Given the description of an element on the screen output the (x, y) to click on. 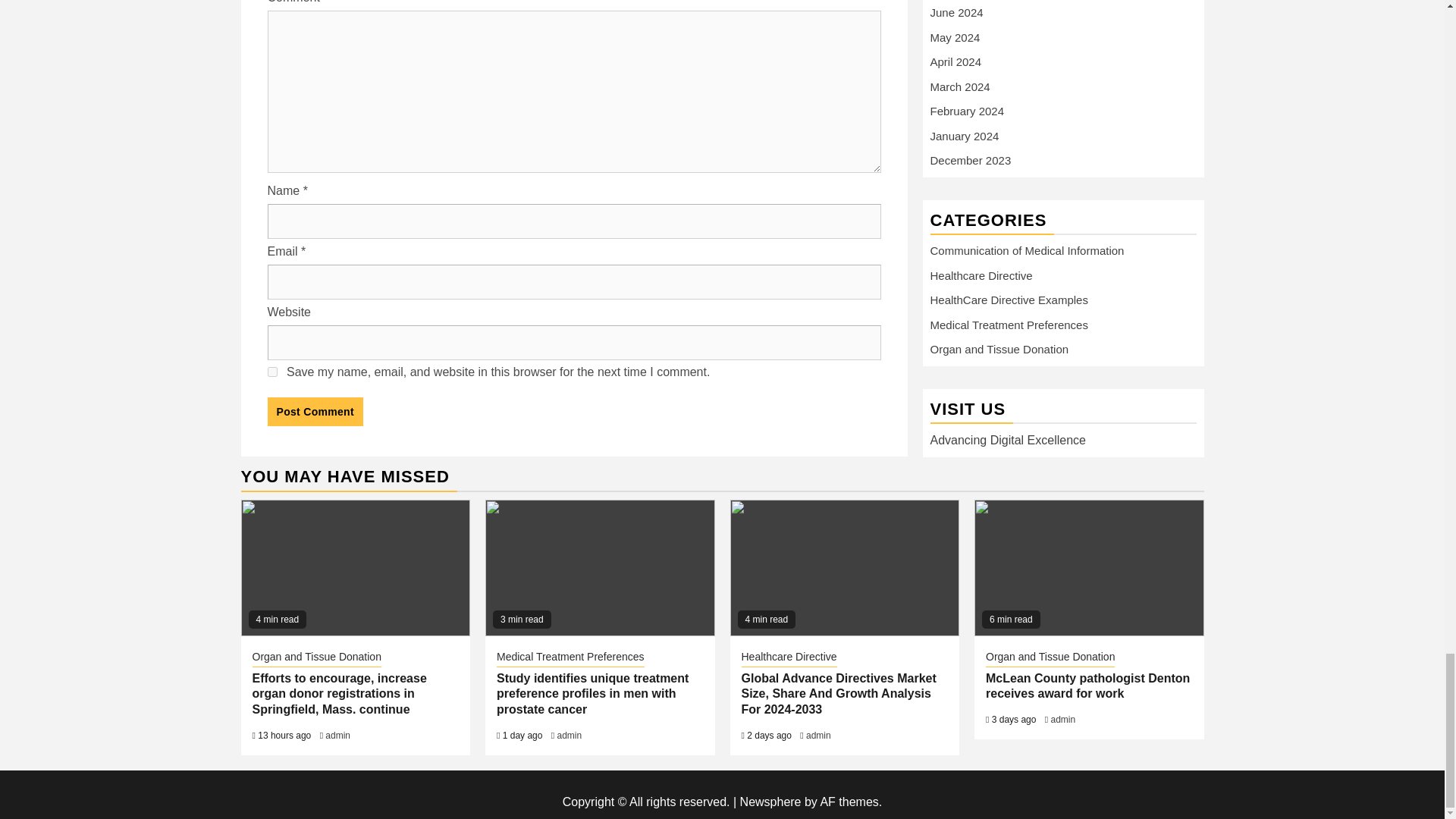
Post Comment (314, 411)
yes (271, 371)
